Given the description of an element on the screen output the (x, y) to click on. 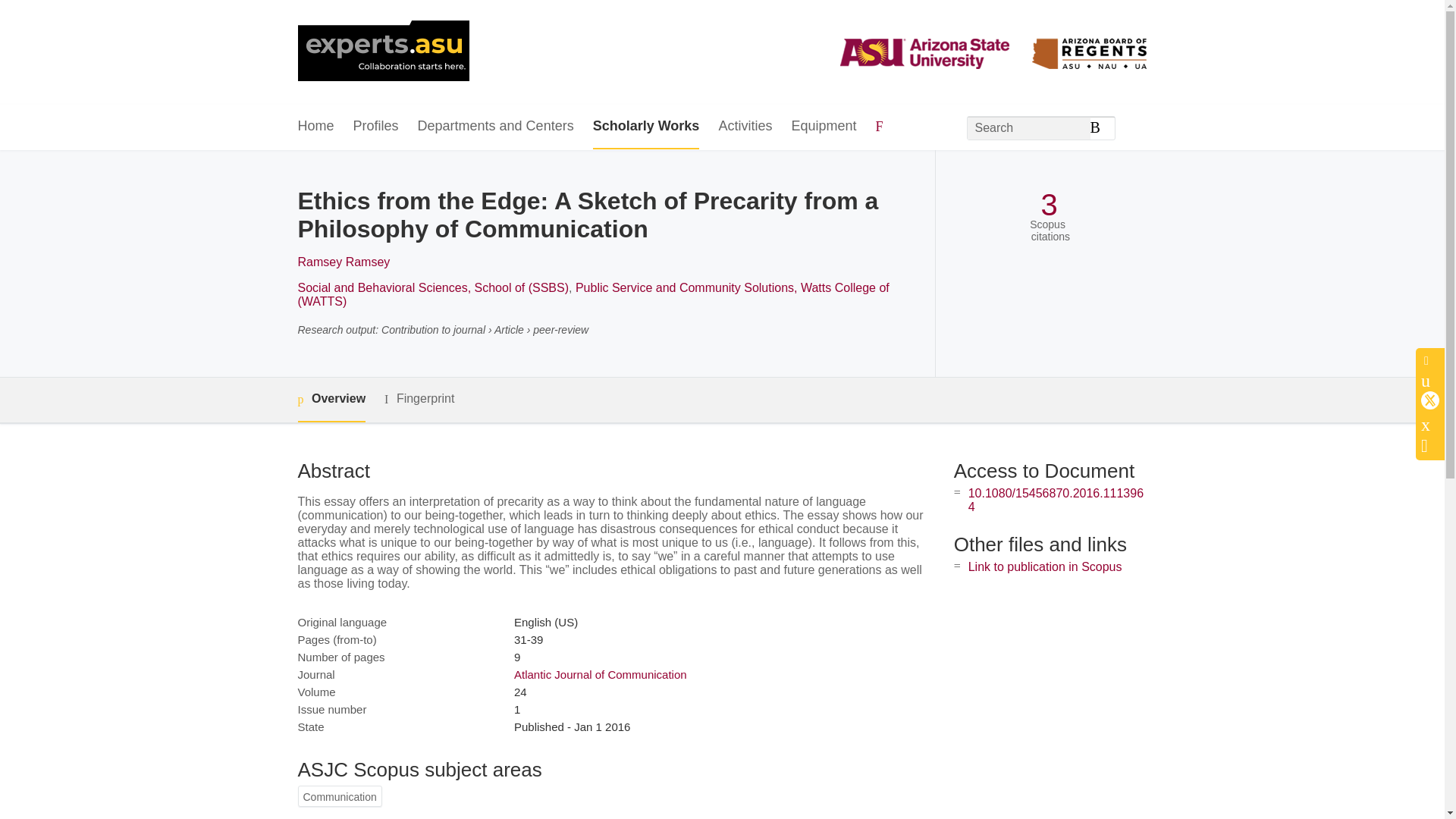
Ramsey Ramsey (343, 261)
Overview (331, 399)
Scholarly Works (646, 126)
Atlantic Journal of Communication (600, 674)
Profiles (375, 126)
Arizona State University Home (382, 52)
Link to publication in Scopus (1045, 566)
Departments and Centers (495, 126)
Activities (744, 126)
